Given the description of an element on the screen output the (x, y) to click on. 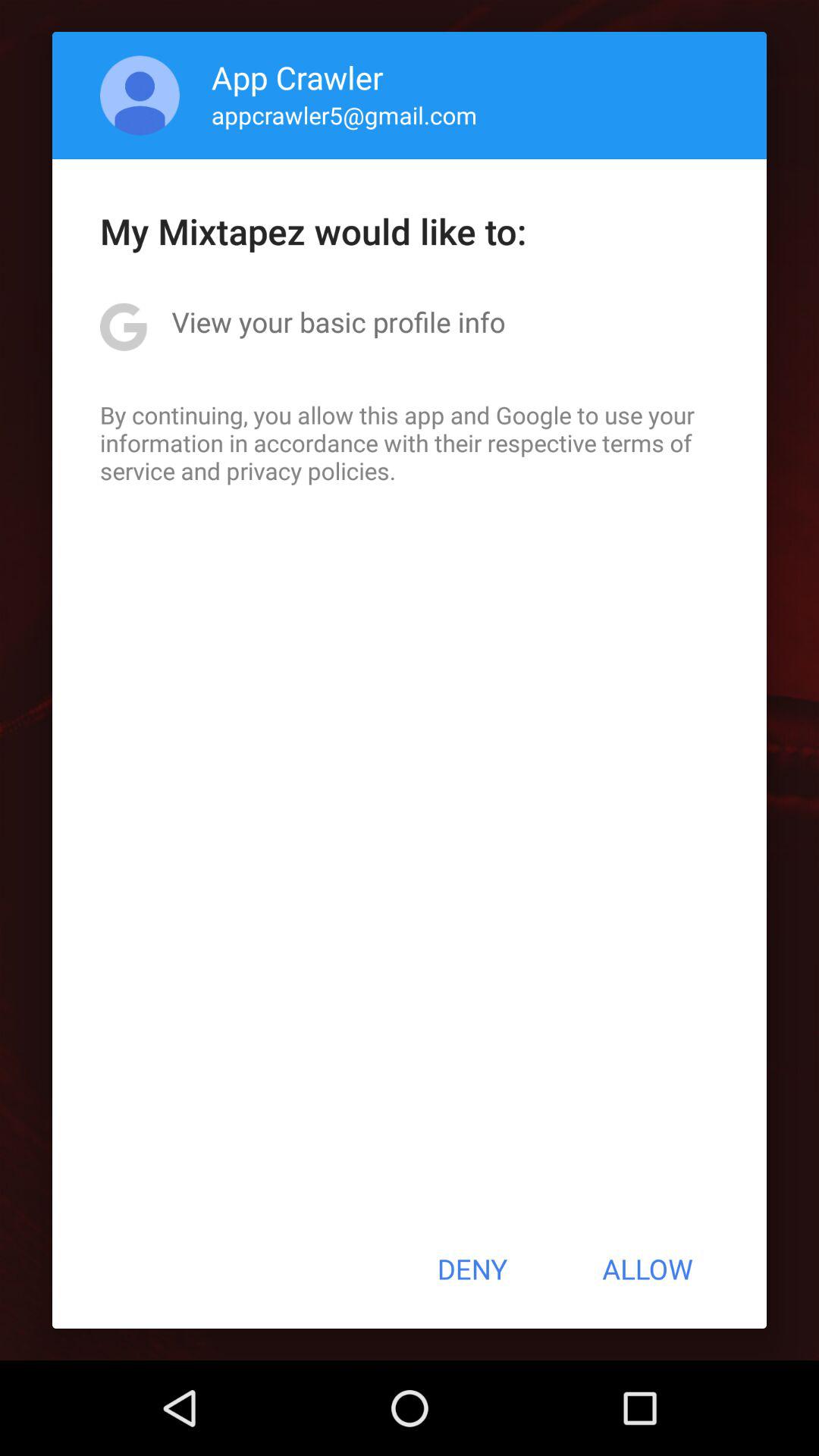
open the item next to allow button (471, 1268)
